Given the description of an element on the screen output the (x, y) to click on. 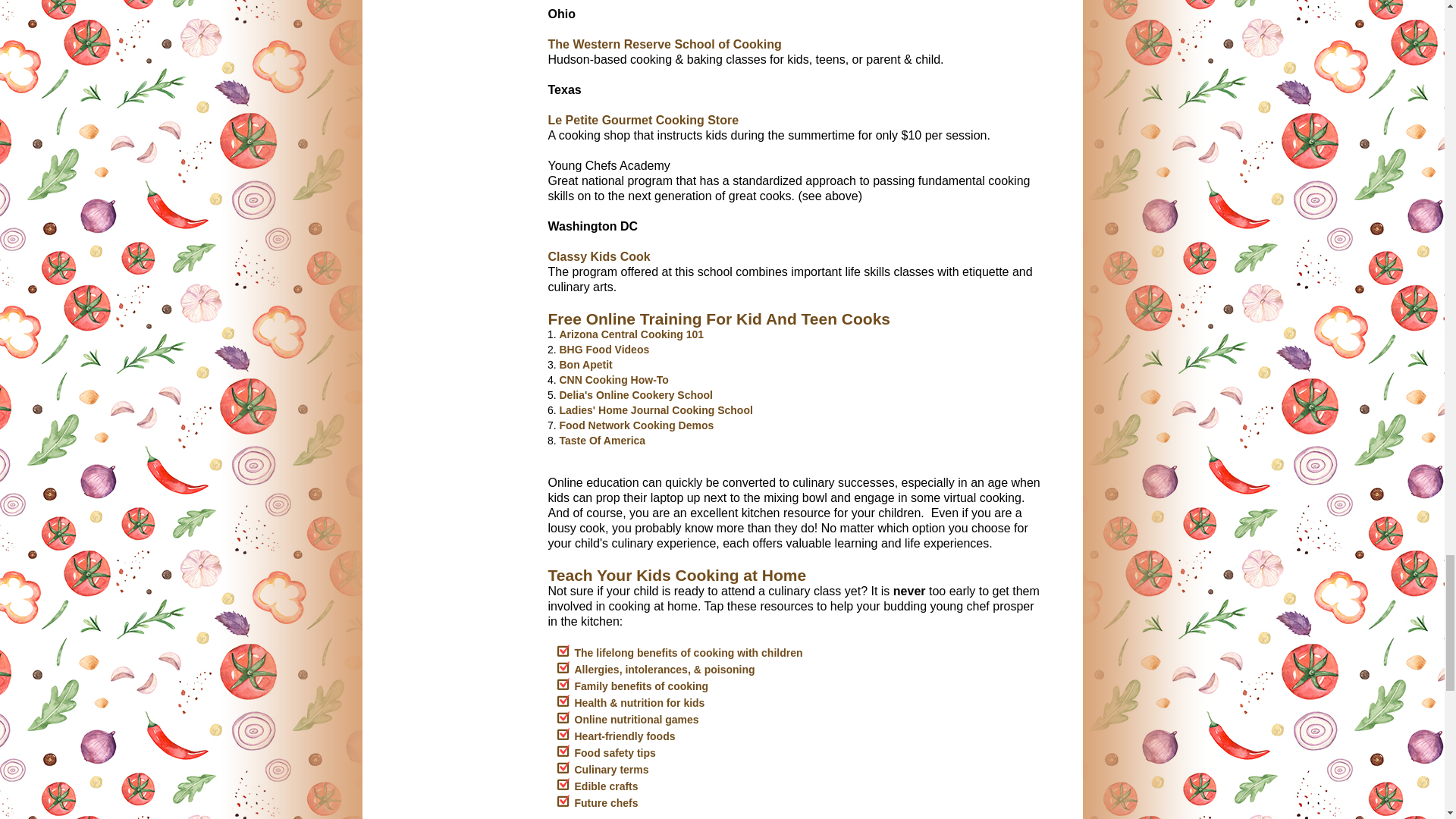
Food Network Cooking Demos (636, 425)
Le Petite Gourmet Cooking Store (642, 119)
Heart-friendly foods (625, 736)
Family benefits of cooking (642, 686)
The Western Reserve School of Cooking (663, 43)
Arizona Central Cooking 101 (631, 334)
CNN Cooking How-To (613, 379)
Future chefs (607, 802)
Delia's Online Cookery School (636, 395)
Taste Of America (602, 440)
BHG Food Videos (604, 349)
Ladies' Home Journal Cooking School (655, 410)
Culinary terms (612, 769)
The lifelong benefits of cooking with children (689, 653)
Edible crafts (607, 786)
